Given the description of an element on the screen output the (x, y) to click on. 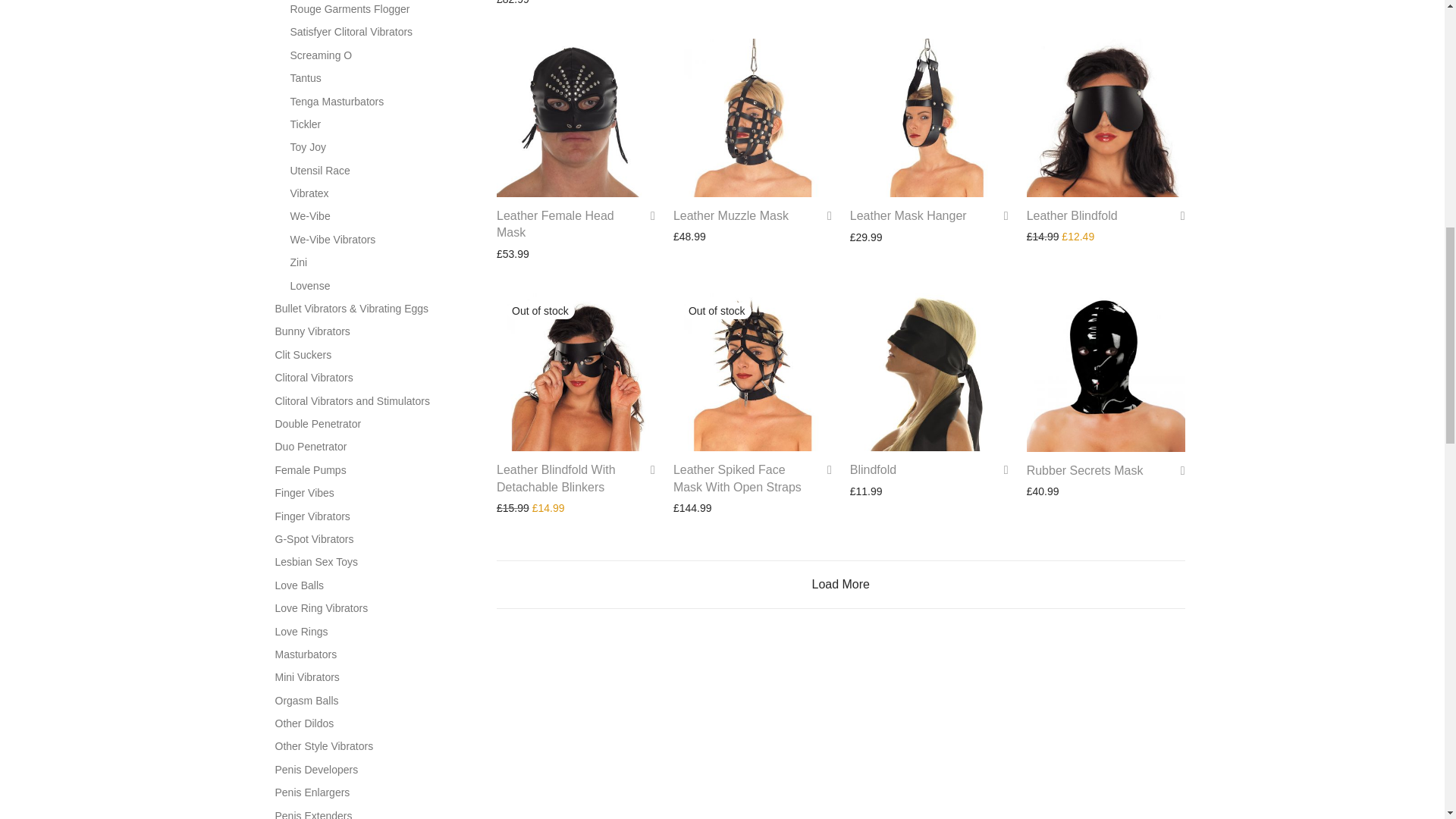
Add to Wishlist (1001, 469)
Add to Wishlist (823, 469)
Add to Wishlist (1177, 470)
Add to Wishlist (1177, 215)
Add to Wishlist (1001, 215)
Add to Wishlist (647, 215)
Add to Wishlist (823, 215)
Add to Wishlist (647, 469)
